Given the description of an element on the screen output the (x, y) to click on. 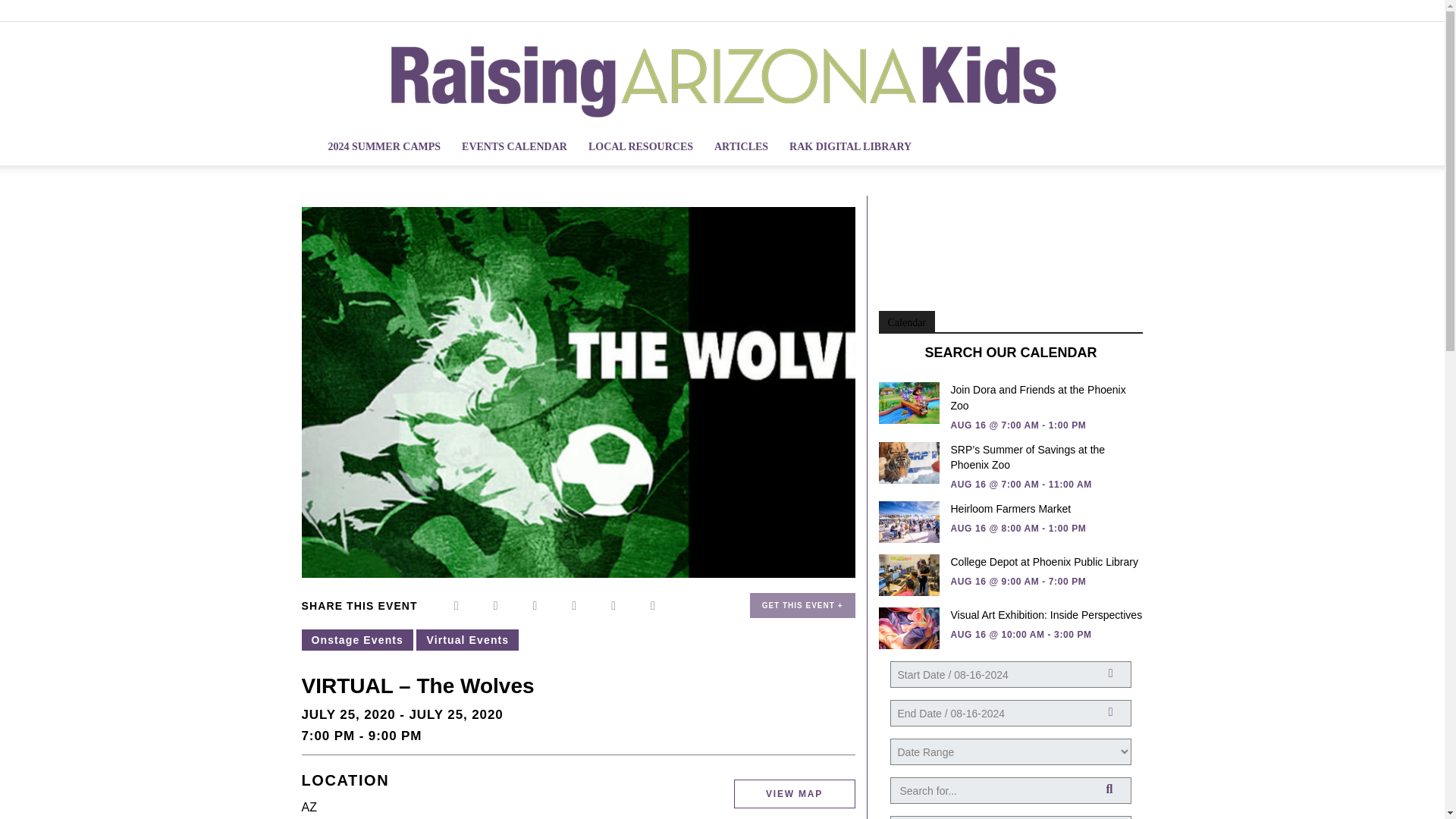
EVENTS CALENDAR (514, 146)
2024 SUMMER CAMPS (384, 146)
Raising Arizona Kids Magazine (721, 75)
